Given the description of an element on the screen output the (x, y) to click on. 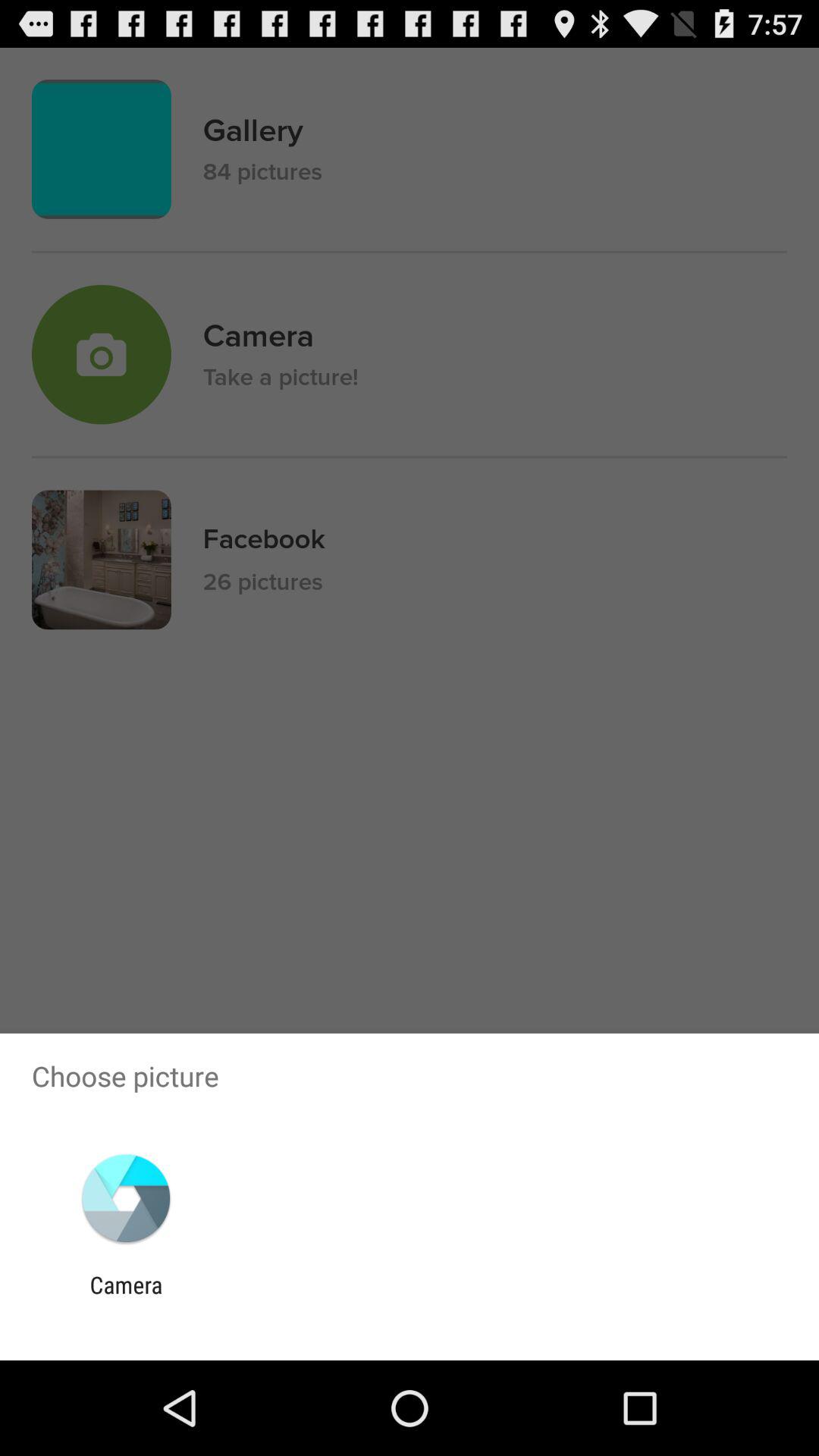
press app above the camera item (126, 1198)
